Given the description of an element on the screen output the (x, y) to click on. 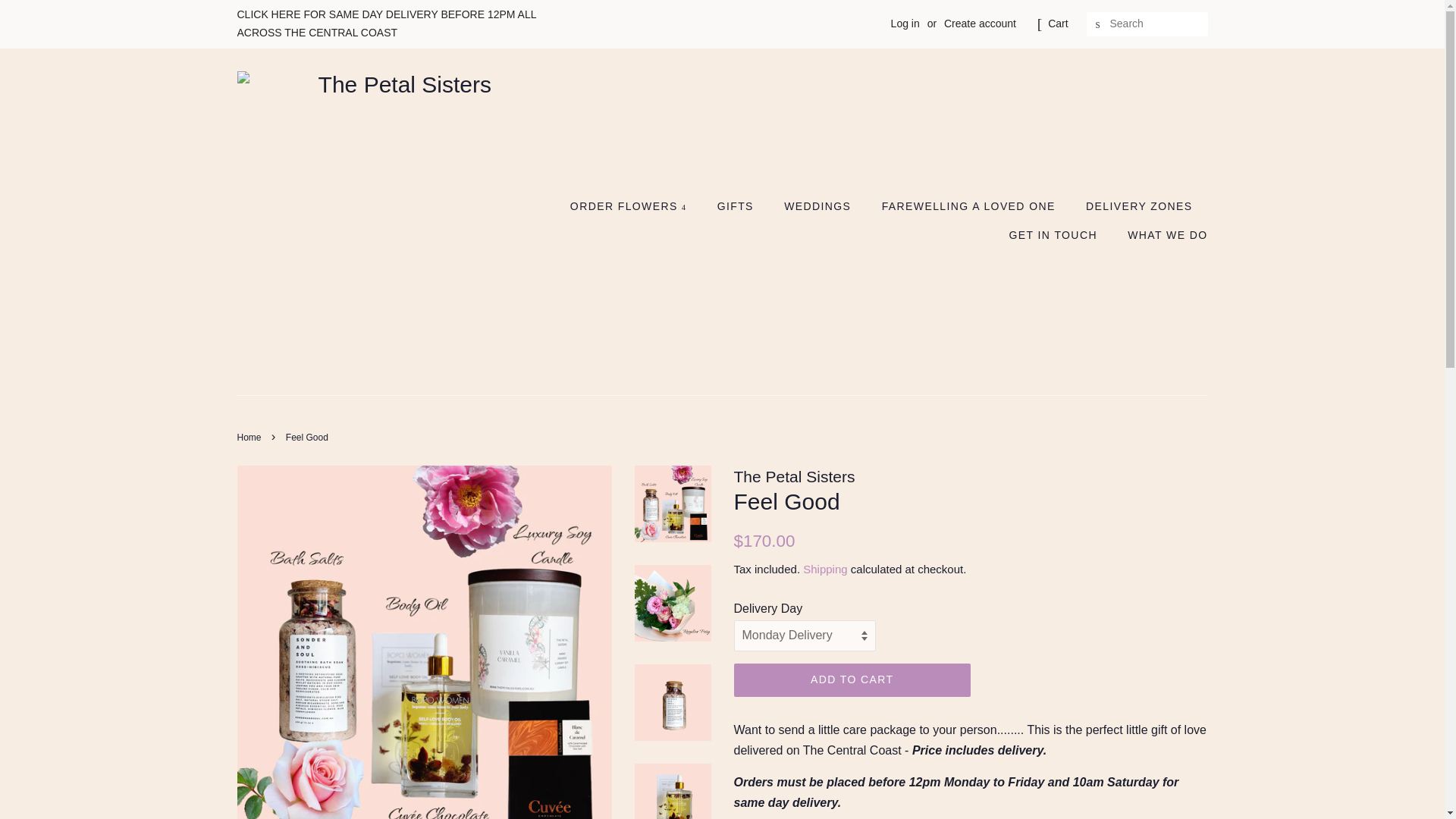
Create account (979, 23)
SEARCH (1097, 24)
FAREWELLING A LOVED ONE (970, 206)
GIFTS (737, 206)
GET IN TOUCH (1054, 235)
ORDER FLOWERS (635, 206)
WEDDINGS (819, 206)
Home (249, 437)
DELIVERY ZONES (1140, 206)
